Given the description of an element on the screen output the (x, y) to click on. 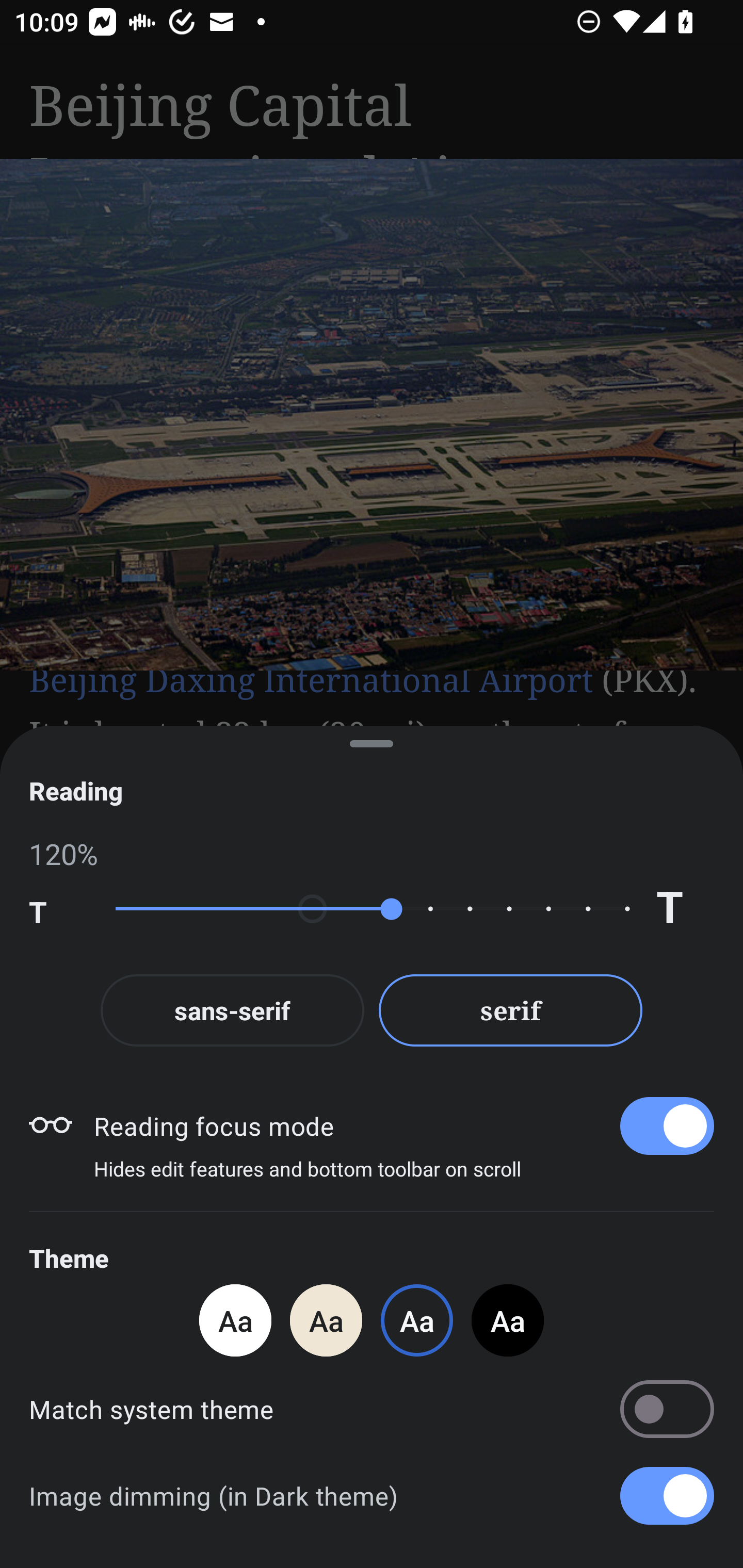
T Decrease text size (57, 909)
T Increase text size (685, 909)
sans-serif (232, 1010)
serif (510, 1010)
Reading focus mode (403, 1125)
Aa (235, 1320)
Aa (325, 1320)
Aa (507, 1320)
Match system theme (371, 1408)
Image dimming (in Dark theme) (371, 1495)
